Given the description of an element on the screen output the (x, y) to click on. 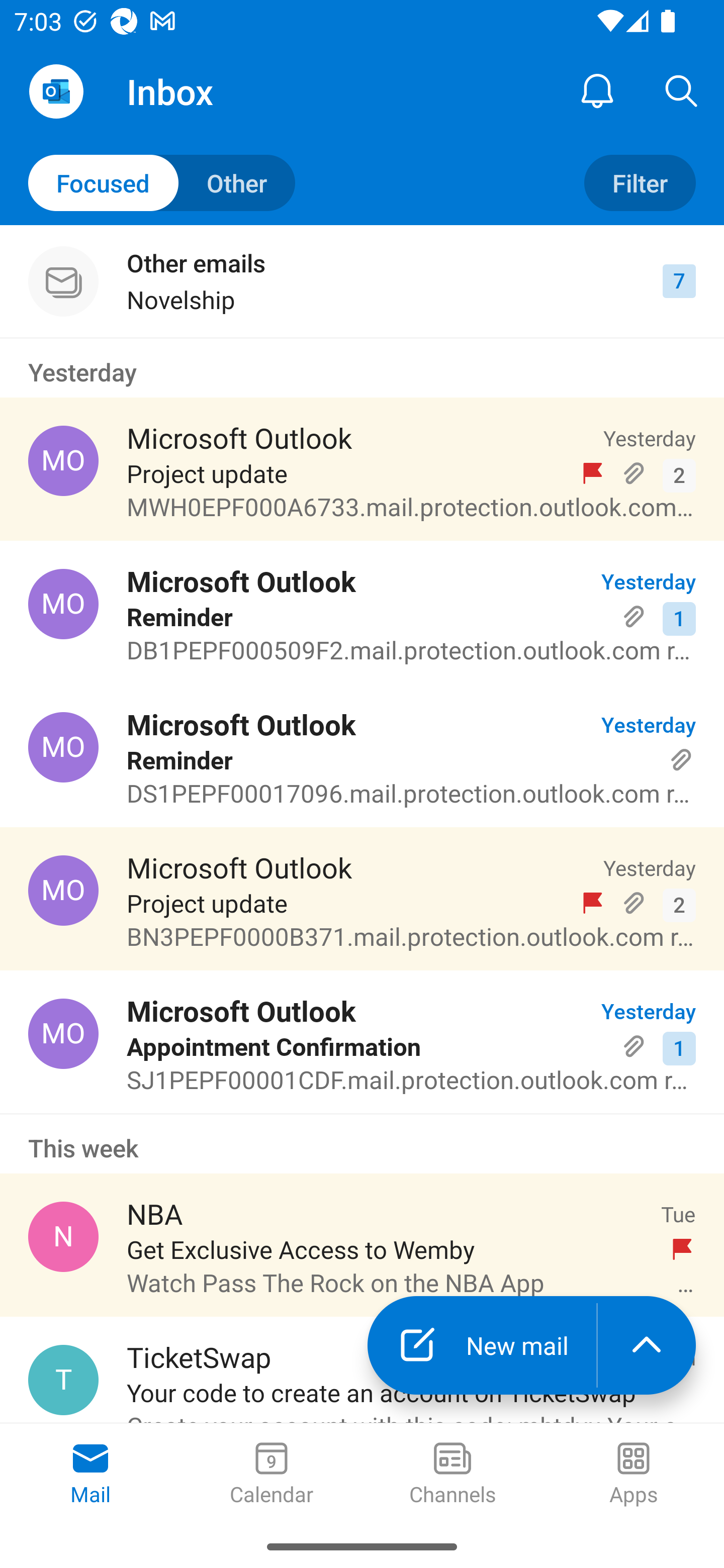
Notification Center (597, 90)
Search, ,  (681, 90)
Open Navigation Drawer (55, 91)
Toggle to other mails (161, 183)
Filter (639, 183)
Other emails Novelship 7 (362, 281)
NBA, NBA@email.nba.com (63, 1236)
New mail (481, 1344)
launch the extended action menu (646, 1344)
TicketSwap, info@ticketswap.com (63, 1380)
Calendar (271, 1474)
Channels (452, 1474)
Apps (633, 1474)
